Given the description of an element on the screen output the (x, y) to click on. 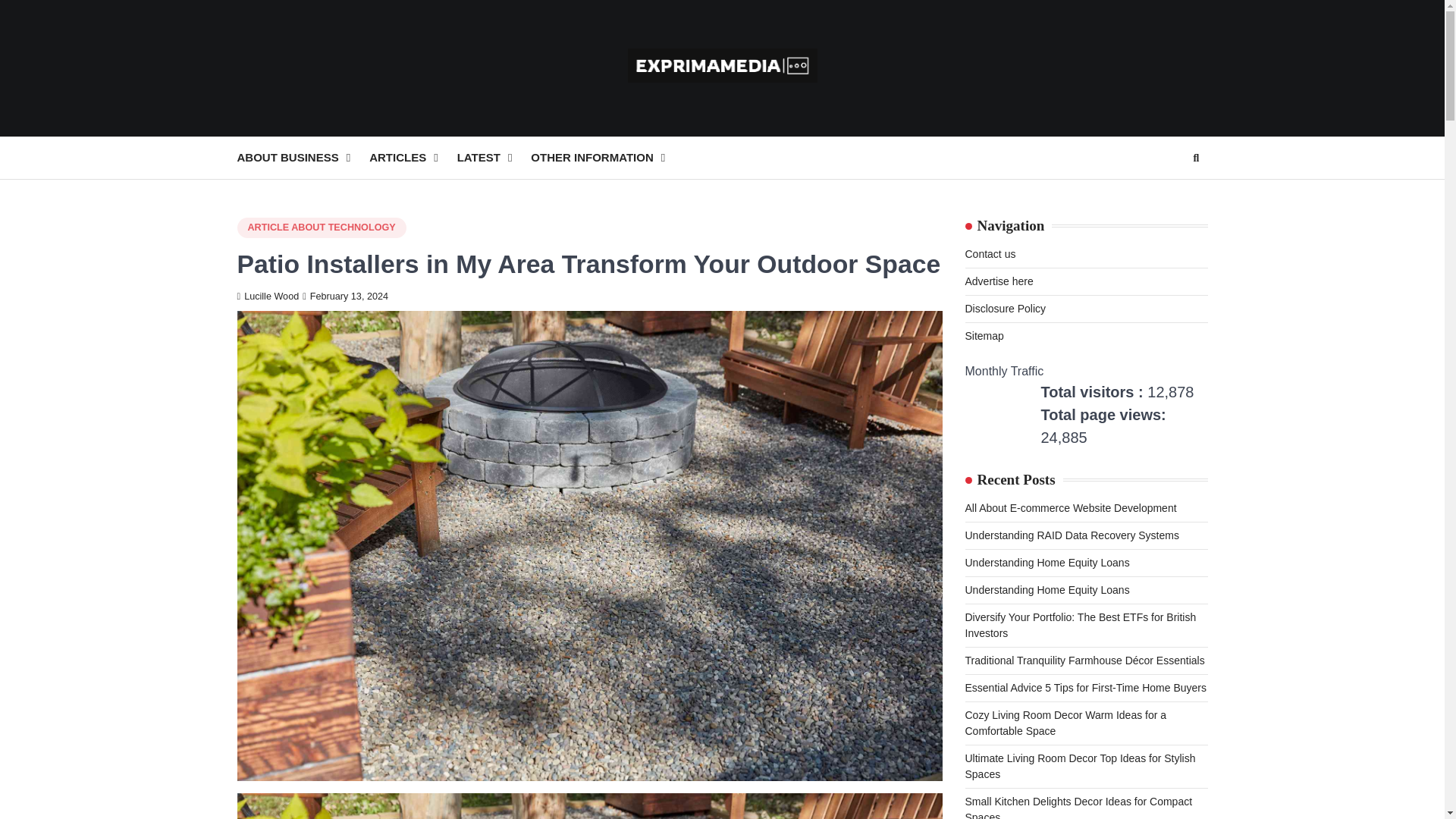
Patio Installers in My Area Transform Your Outdoor Space (588, 806)
ARTICLE ABOUT TECHNOLOGY (320, 227)
LATEST (494, 158)
Search (1168, 194)
Search (1196, 158)
February 13, 2024 (345, 296)
OTHER INFORMATION (607, 158)
ARTICLES (413, 158)
ABOUT BUSINESS (302, 158)
